Given the description of an element on the screen output the (x, y) to click on. 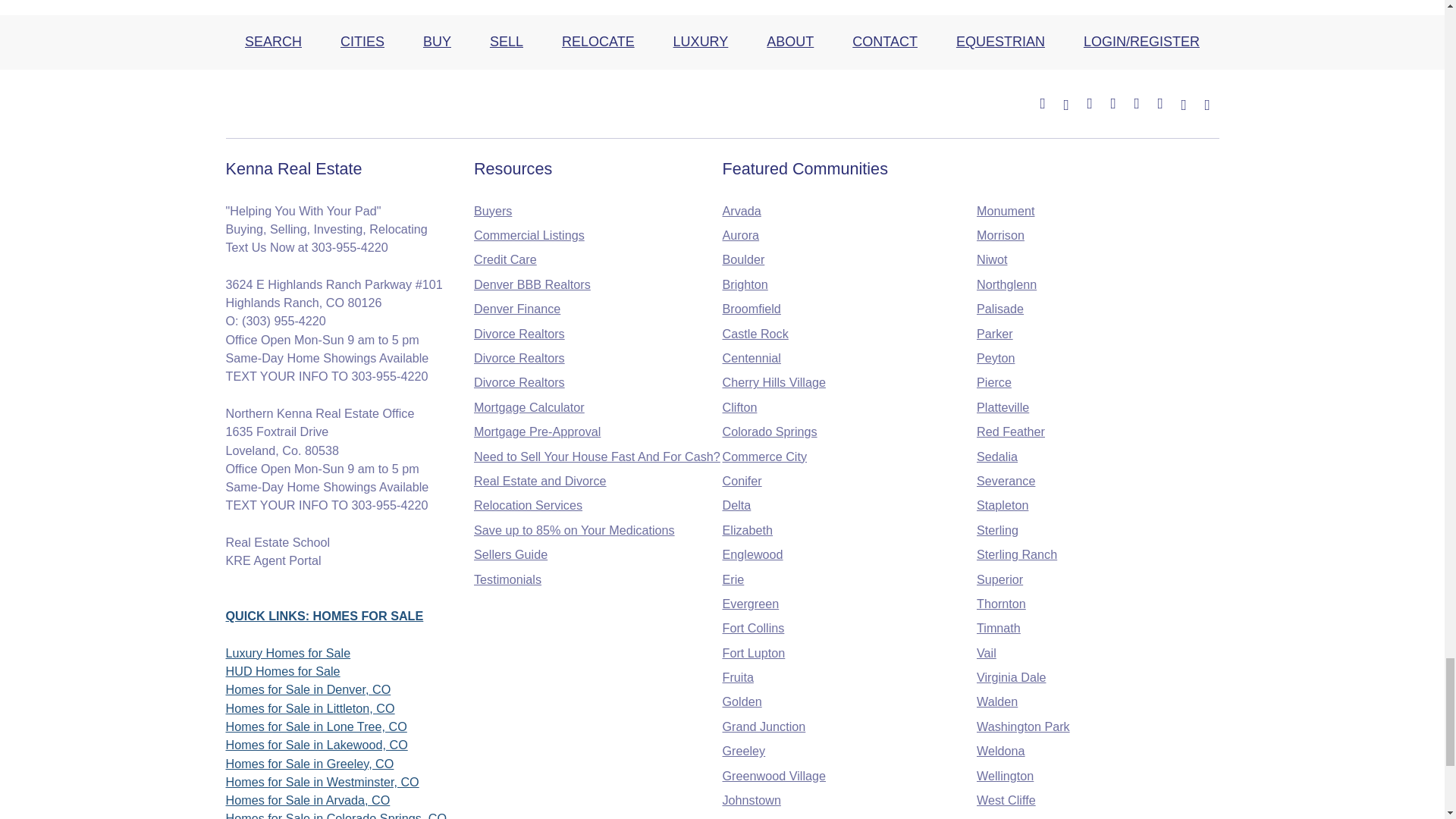
Home Page (317, 102)
